Given the description of an element on the screen output the (x, y) to click on. 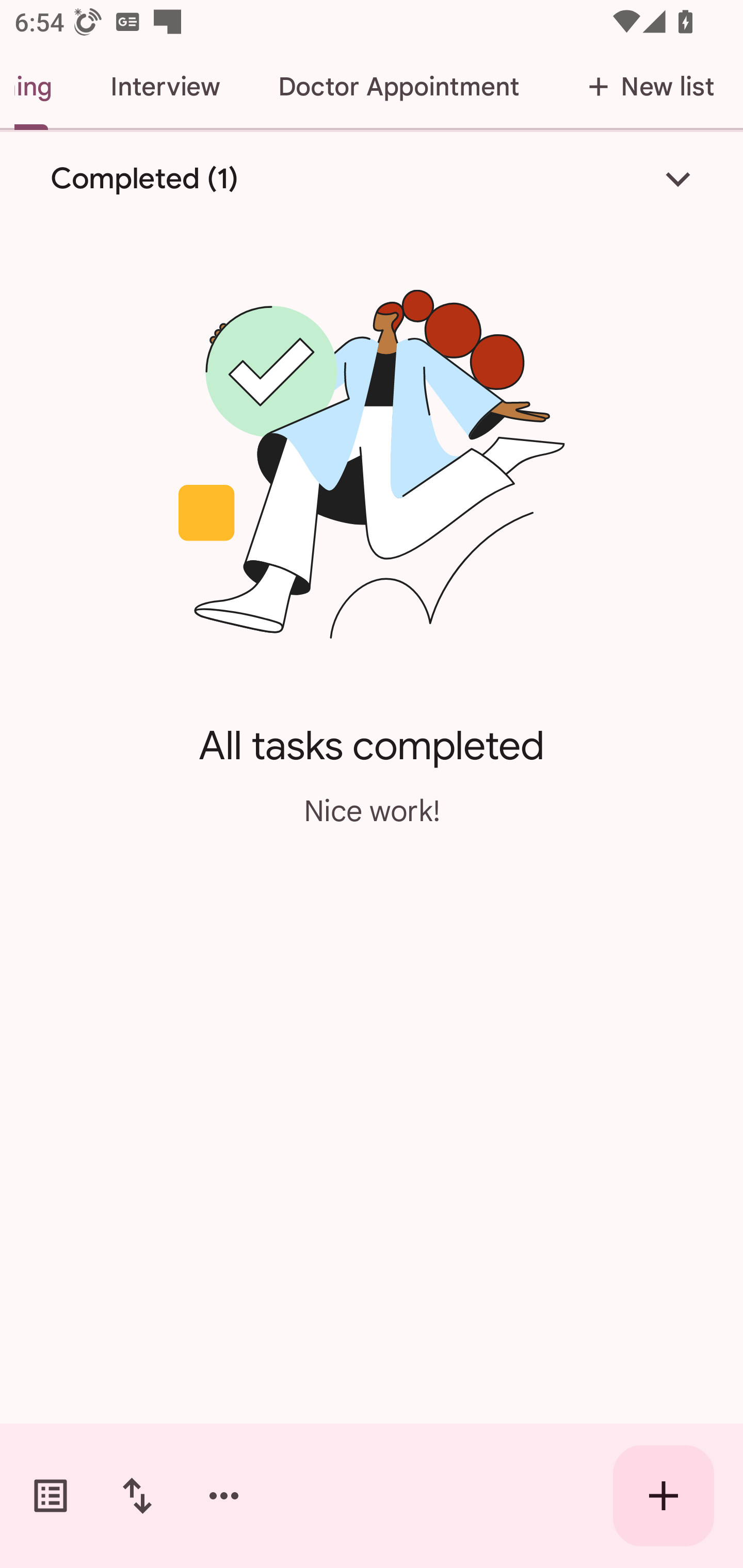
Interview (164, 86)
Doctor Appointment (398, 86)
New list (645, 86)
Completed (1) (371, 178)
Switch task lists (50, 1495)
Create new task (663, 1495)
Change sort order (136, 1495)
More options (223, 1495)
